Given the description of an element on the screen output the (x, y) to click on. 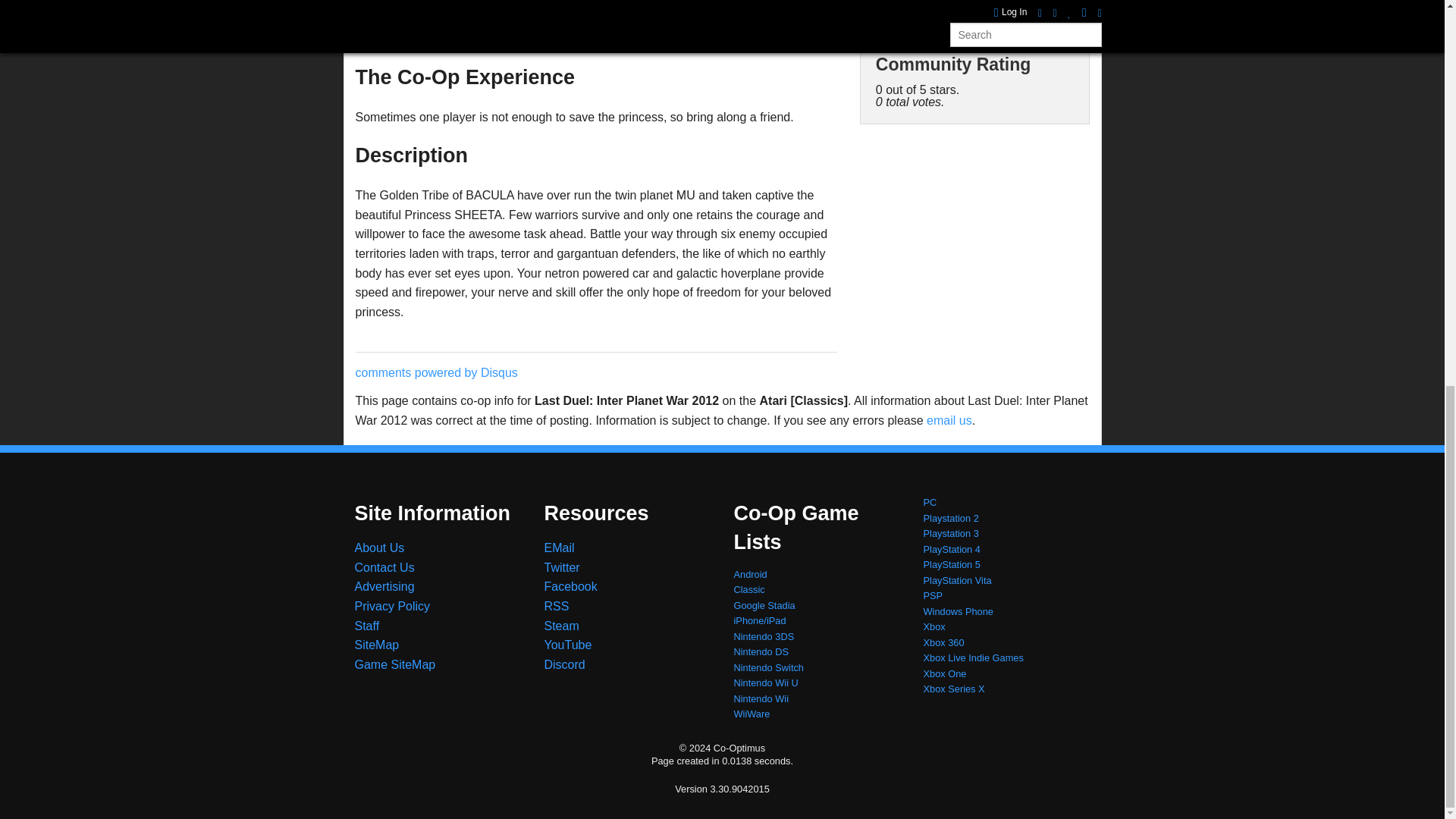
Join our Steam Group! (561, 625)
comments powered by Disqus (435, 372)
Our current staff and bios. (367, 625)
Advertising rates and traffic numbers. (384, 585)
